Given the description of an element on the screen output the (x, y) to click on. 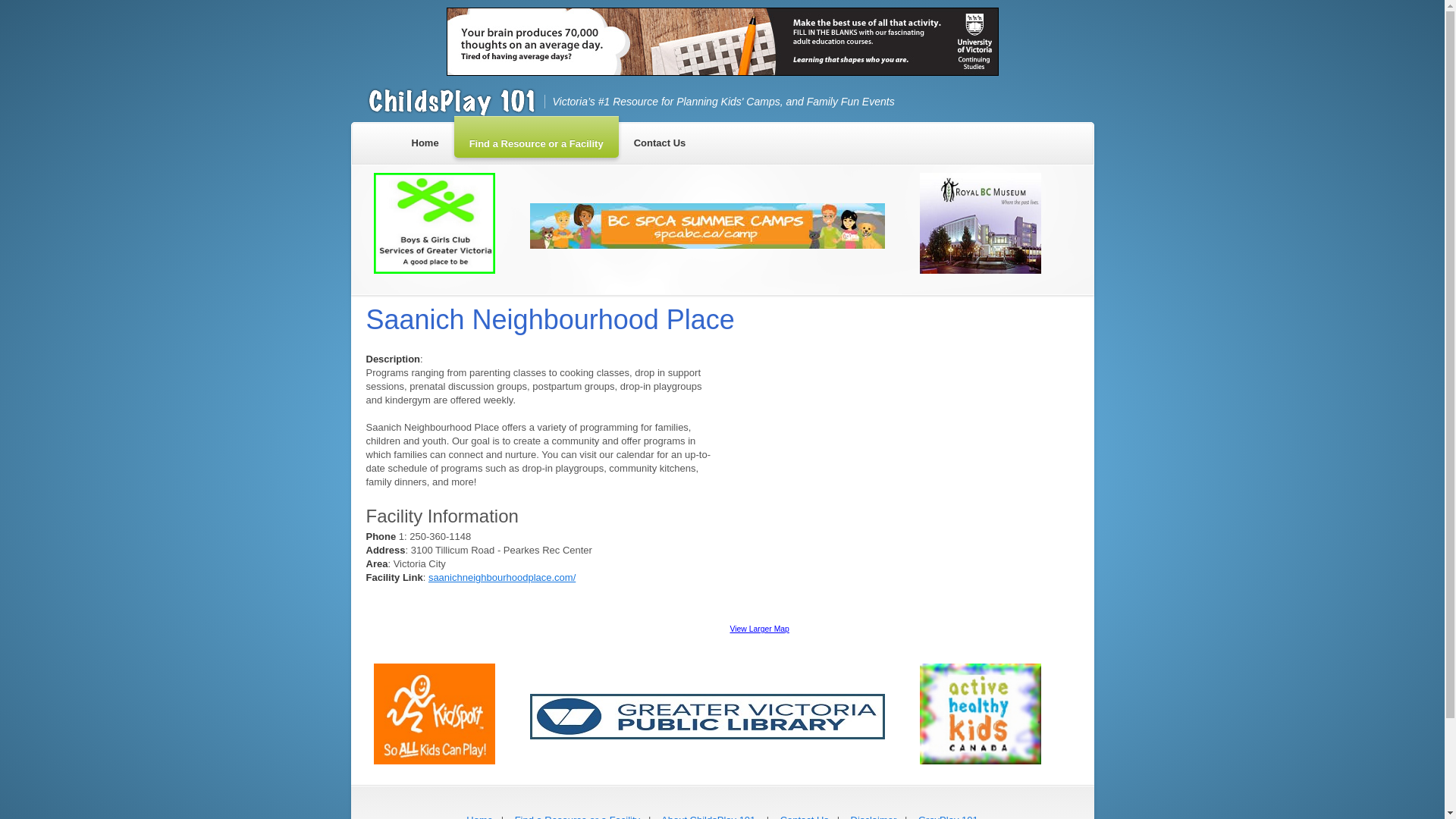
Home (479, 816)
Home (424, 139)
Find a Resource or a Facility (577, 816)
title (873, 816)
Disclaimer (873, 816)
title (479, 816)
GreyPlay 101 (948, 816)
title (804, 816)
About ChildsPlay 101 (708, 816)
View Larger Map (759, 628)
title (948, 816)
title (708, 816)
Contact Us (804, 816)
title (577, 816)
Find a Resource or a Facility (536, 140)
